Given the description of an element on the screen output the (x, y) to click on. 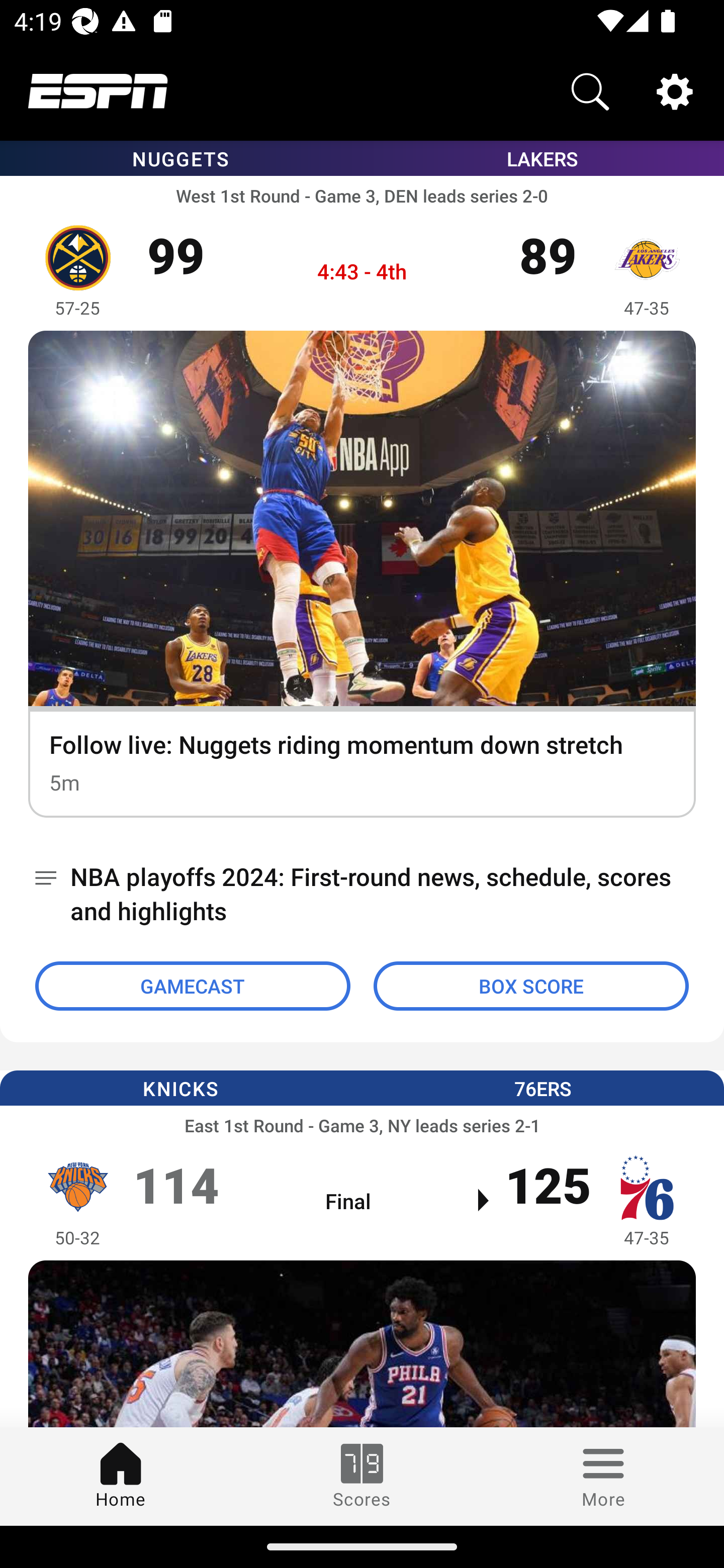
Search (590, 90)
Settings (674, 90)
GAMECAST (192, 986)
BOX SCORE (530, 986)
Scores (361, 1475)
More (603, 1475)
